Given the description of an element on the screen output the (x, y) to click on. 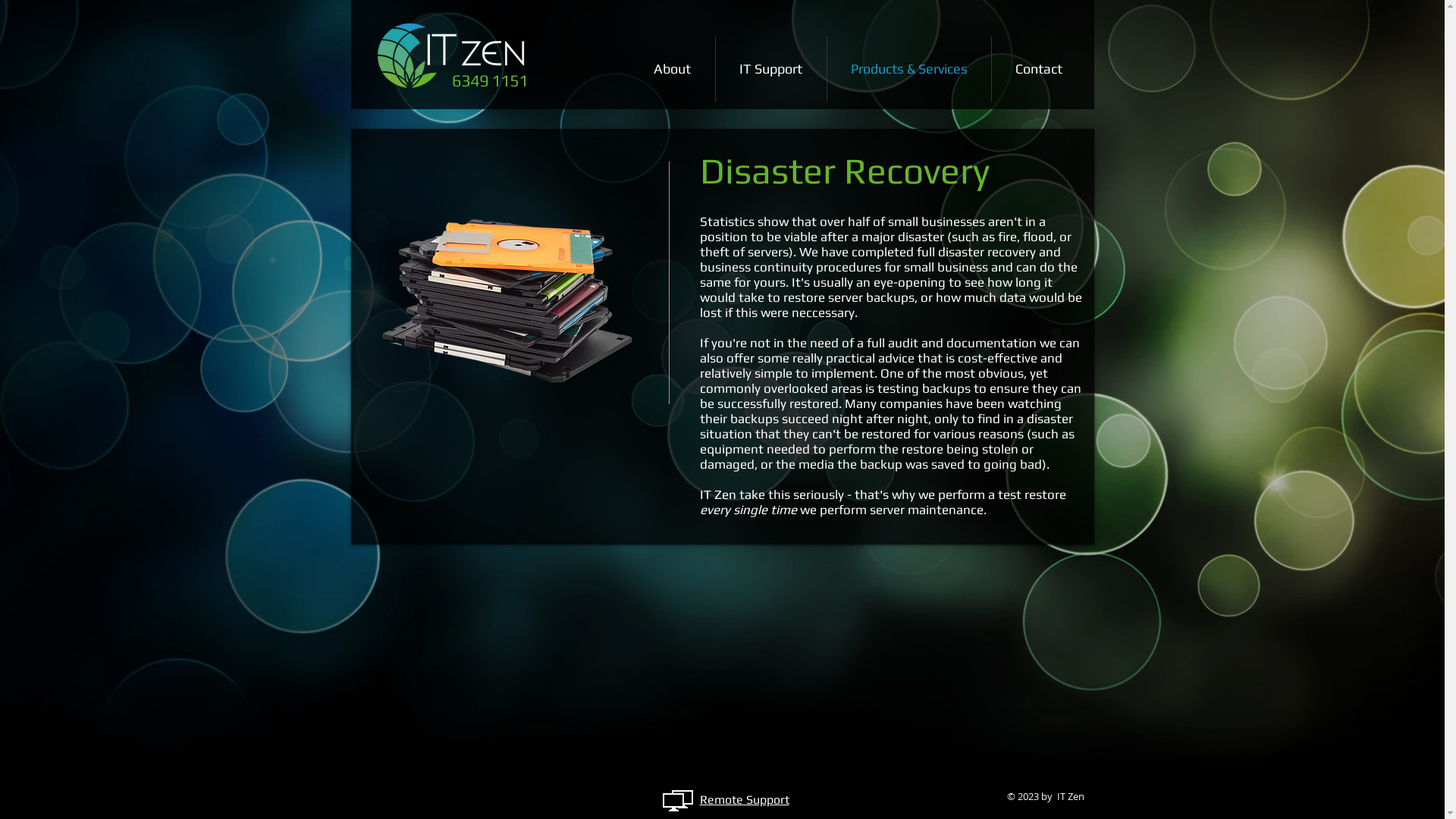
Remote Support Element type: text (743, 799)
IT Support Element type: text (770, 68)
About Element type: text (671, 68)
Logo-WhiteText.png Element type: hover (452, 52)
Contact Element type: text (1038, 68)
floppy-stack_281239586.png Element type: hover (507, 299)
Products & Services Element type: text (908, 68)
